Given the description of an element on the screen output the (x, y) to click on. 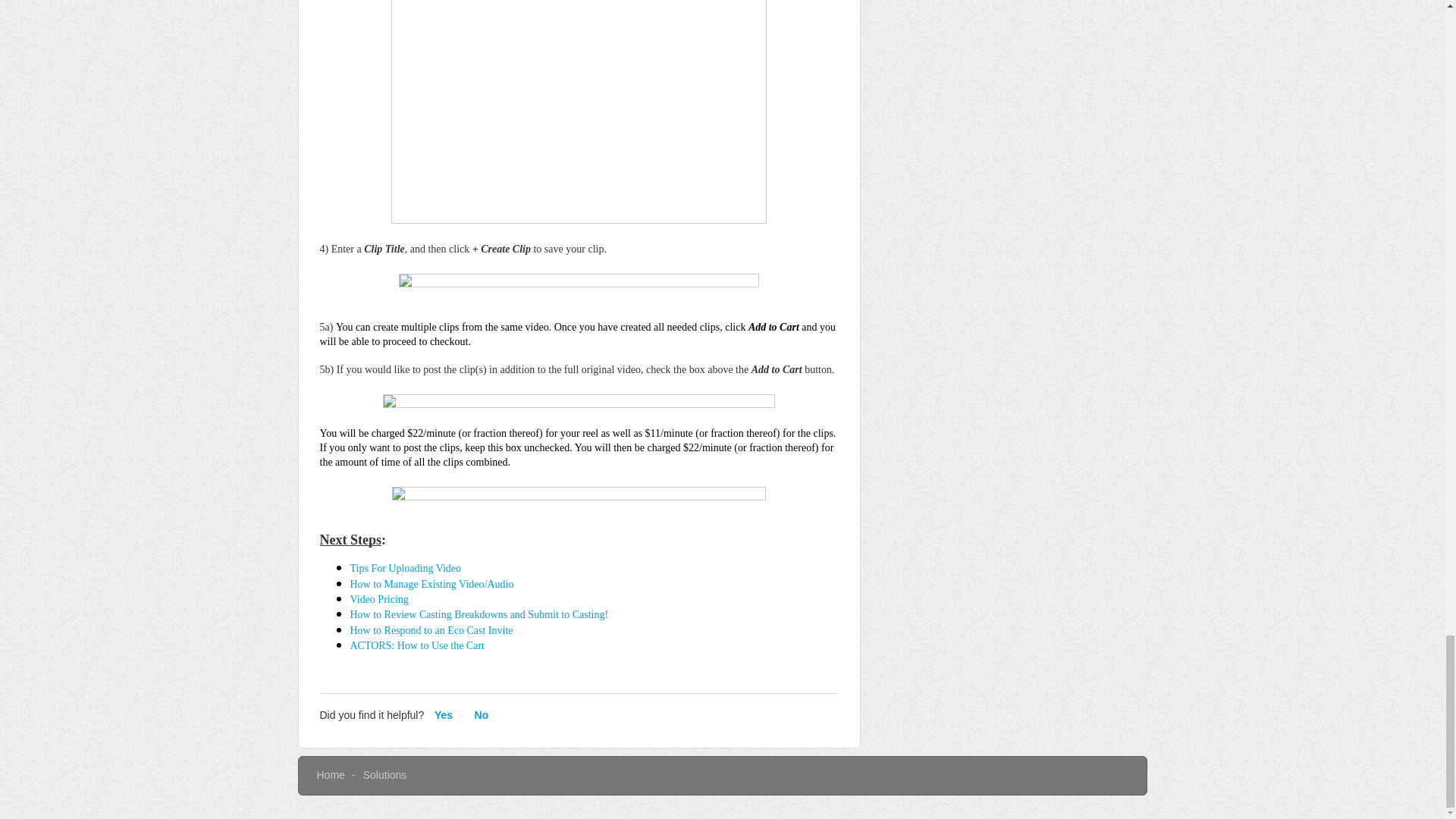
Home (331, 775)
Tips For Uploading Video (405, 568)
How to Respond to an Eco Cast Invite (431, 630)
How to Review Casting Breakdowns and Submit to Casting!  (480, 614)
ACTORS: How to Use the Cart (417, 645)
Video Pricing (379, 599)
